Given the description of an element on the screen output the (x, y) to click on. 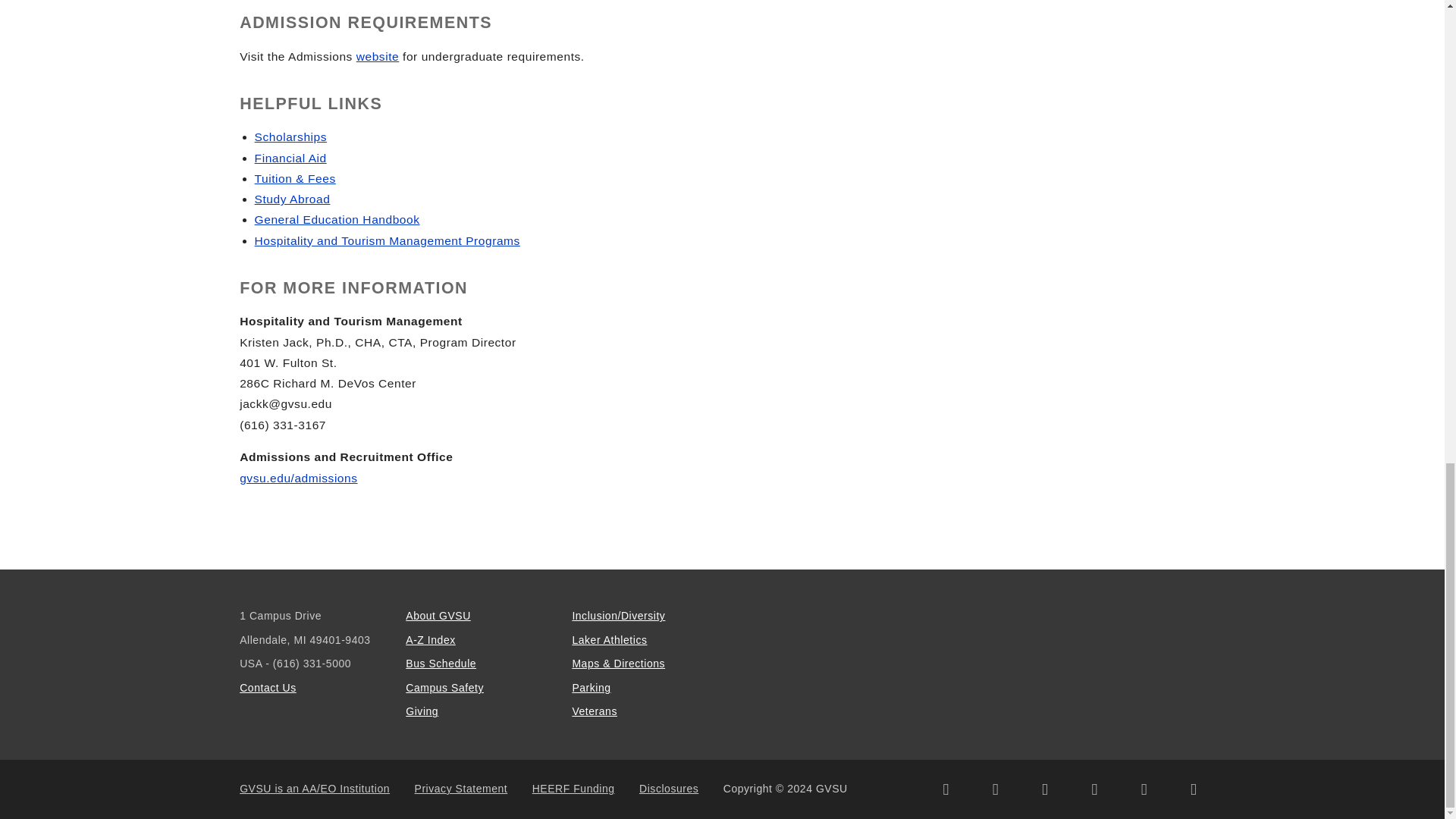
About GVSU (438, 615)
Scholarships (290, 136)
General Education Handbook (337, 219)
Grand Valley State University Veterans Network (594, 711)
Grand Valley State University Parking Services (591, 687)
Campus Safety (444, 687)
Instagram (995, 789)
A-Z Index (430, 639)
Contact Grand Valley State University (268, 687)
Hospitality and Tourism Management Programs (386, 240)
Transportation Services Bus Schedule (441, 663)
website (377, 56)
Giving (422, 711)
Grand Valley State University A-Z Website Index (430, 639)
Financial Aid (290, 157)
